Given the description of an element on the screen output the (x, y) to click on. 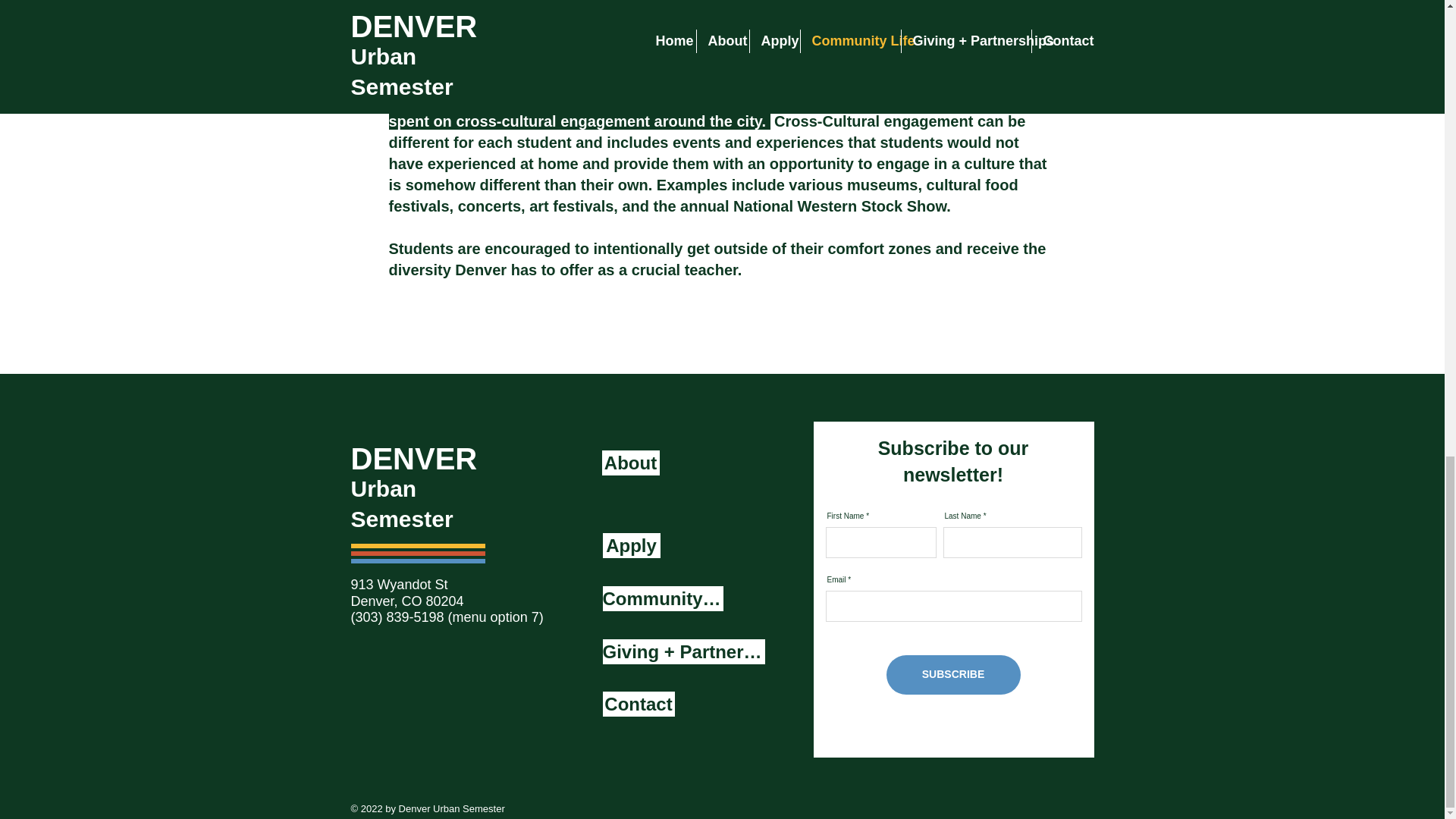
About (630, 462)
SUBSCRIBE (952, 674)
Apply (630, 545)
Community Life (662, 598)
Contact (638, 703)
